Given the description of an element on the screen output the (x, y) to click on. 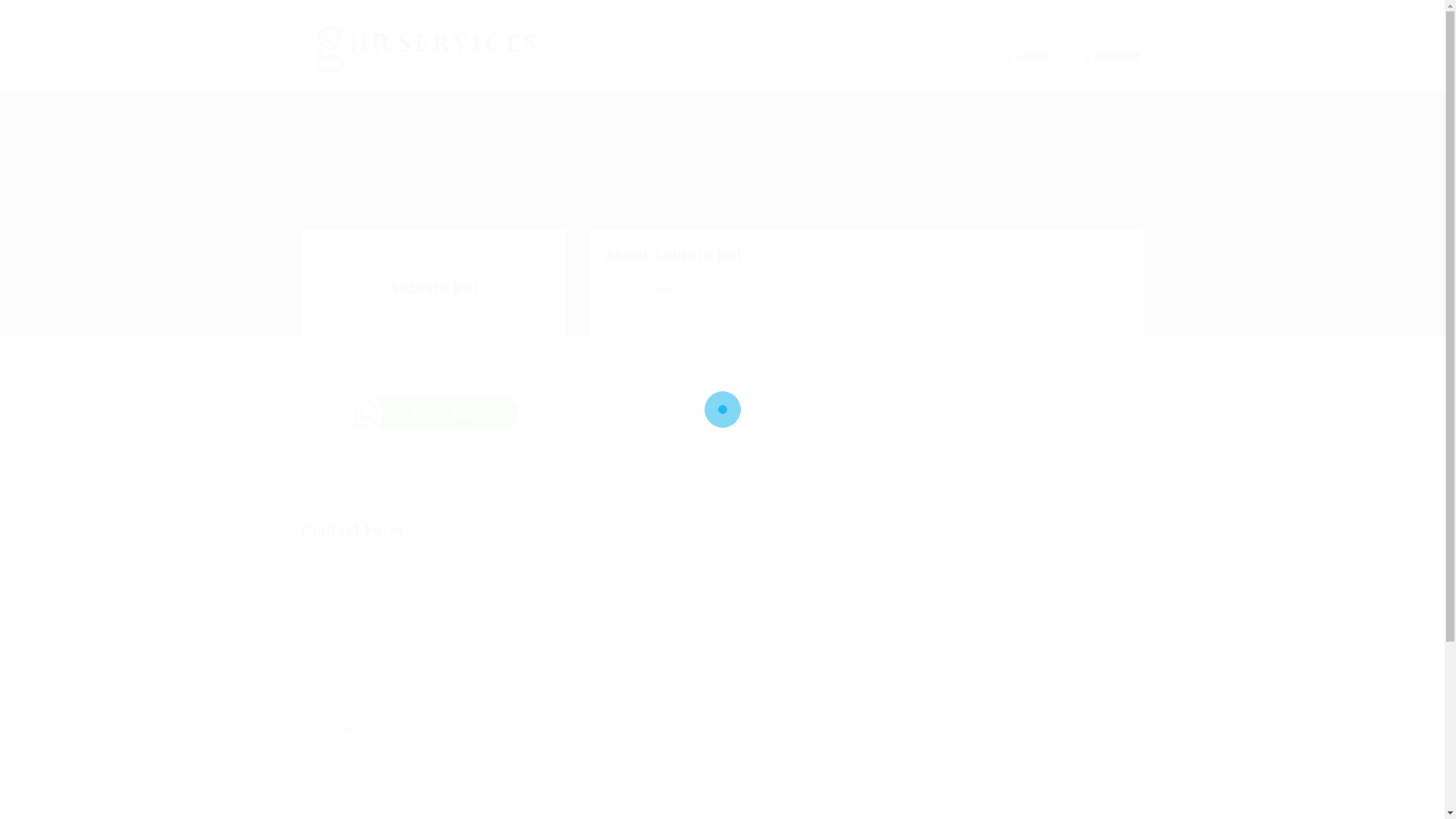
Invite Element type: text (435, 452)
0 Element type: text (960, 56)
WhatsApp Element type: text (433, 413)
Save Candidate Element type: text (436, 370)
Login Element type: text (1022, 56)
Subrata Pal Element type: text (433, 288)
Activate Account Element type: text (592, 442)
Jobs By 3G HR Services Element type: hover (417, 47)
Sign In Element type: text (562, 420)
Register Element type: text (1107, 56)
